Given the description of an element on the screen output the (x, y) to click on. 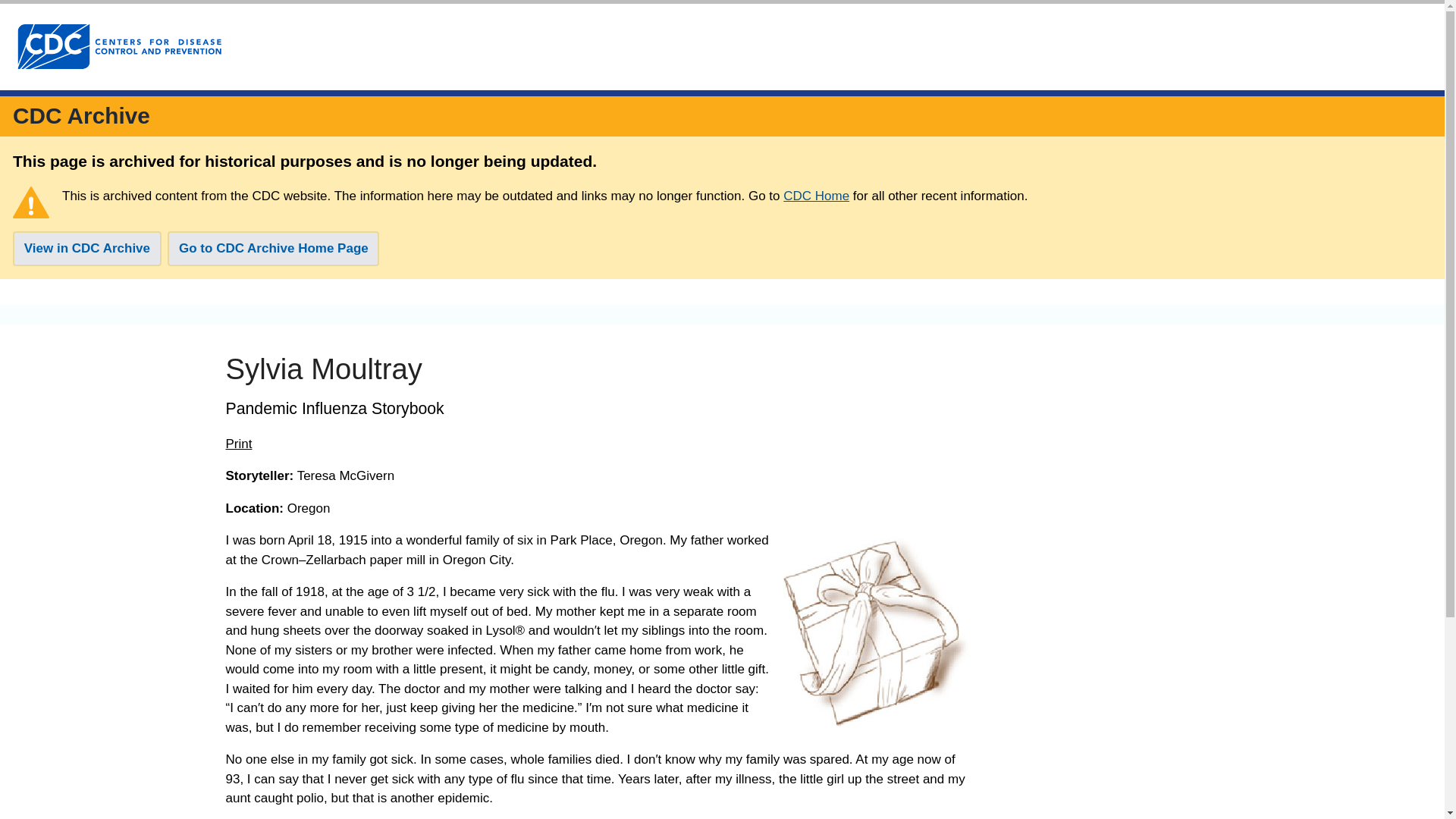
Print (238, 444)
CDC Home (815, 196)
View in CDC Archive (87, 248)
CDC Archive Home (81, 115)
Go to CDC Archive Home Page (272, 248)
CDC Archive (81, 115)
moultray-present-box.jpg (877, 631)
